Given the description of an element on the screen output the (x, y) to click on. 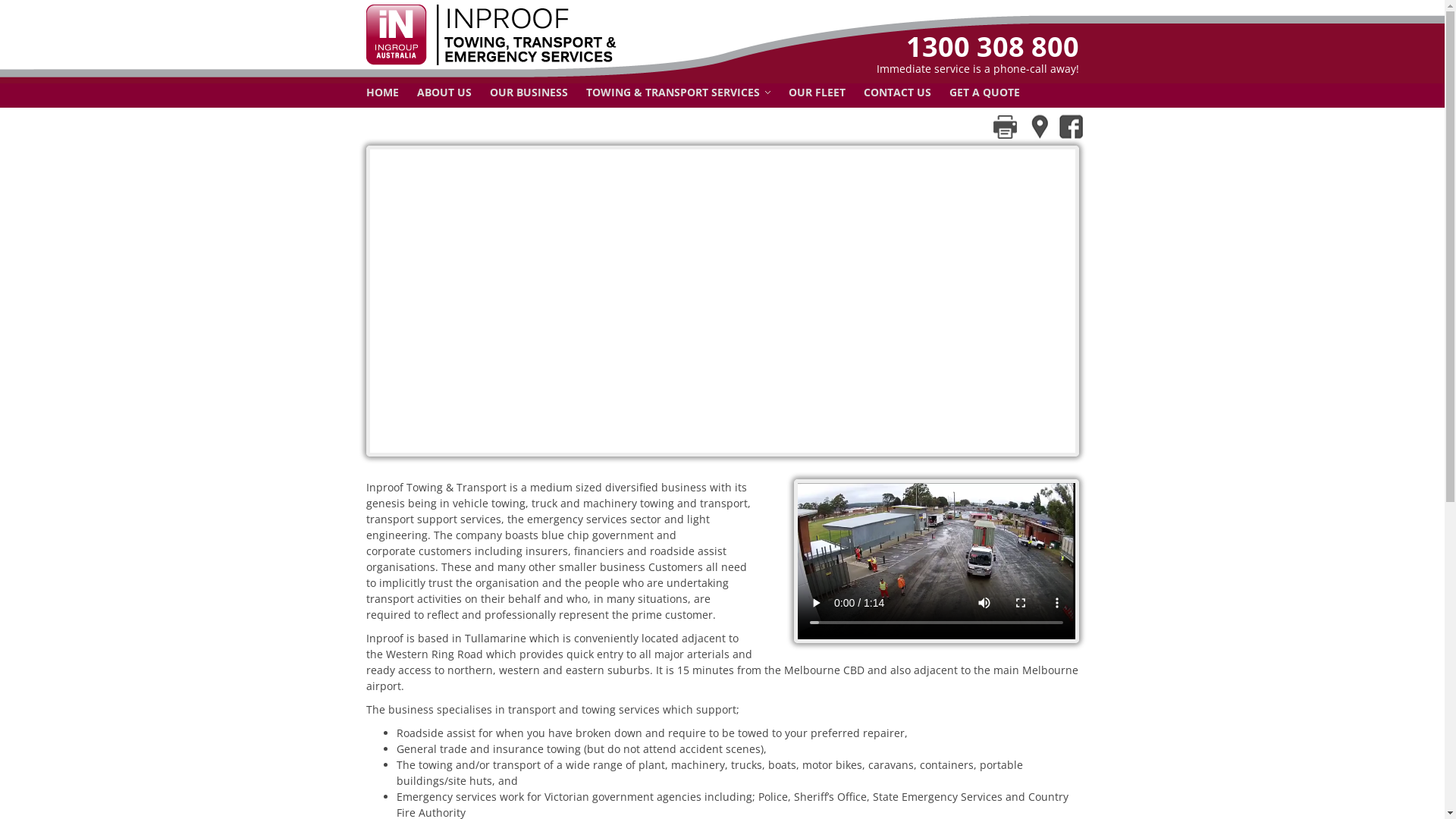
ABOUT US Element type: text (444, 92)
GET A QUOTE Element type: text (984, 92)
HOME Element type: text (381, 92)
OUR FLEET Element type: text (816, 92)
OUR BUSINESS Element type: text (528, 92)
CONTACT US Element type: text (896, 92)
1300 308 800 Element type: text (899, 46)
Home Element type: hover (516, 60)
TOWING & TRANSPORT SERVICES Element type: text (677, 92)
